Given the description of an element on the screen output the (x, y) to click on. 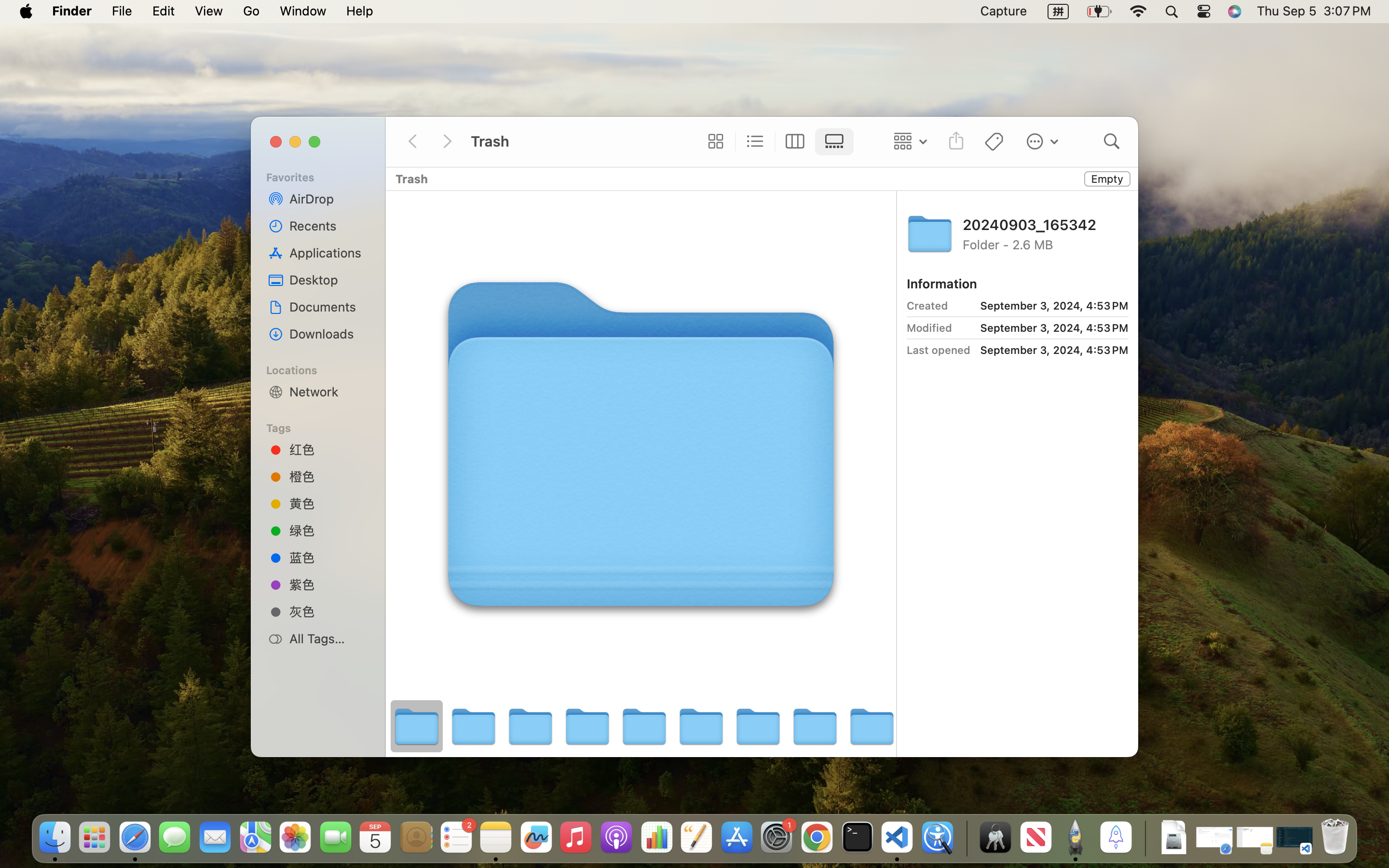
黄色 Element type: AXStaticText (328, 503)
Tags Element type: AXStaticText (323, 426)
Favorites Element type: AXStaticText (323, 175)
